Given the description of an element on the screen output the (x, y) to click on. 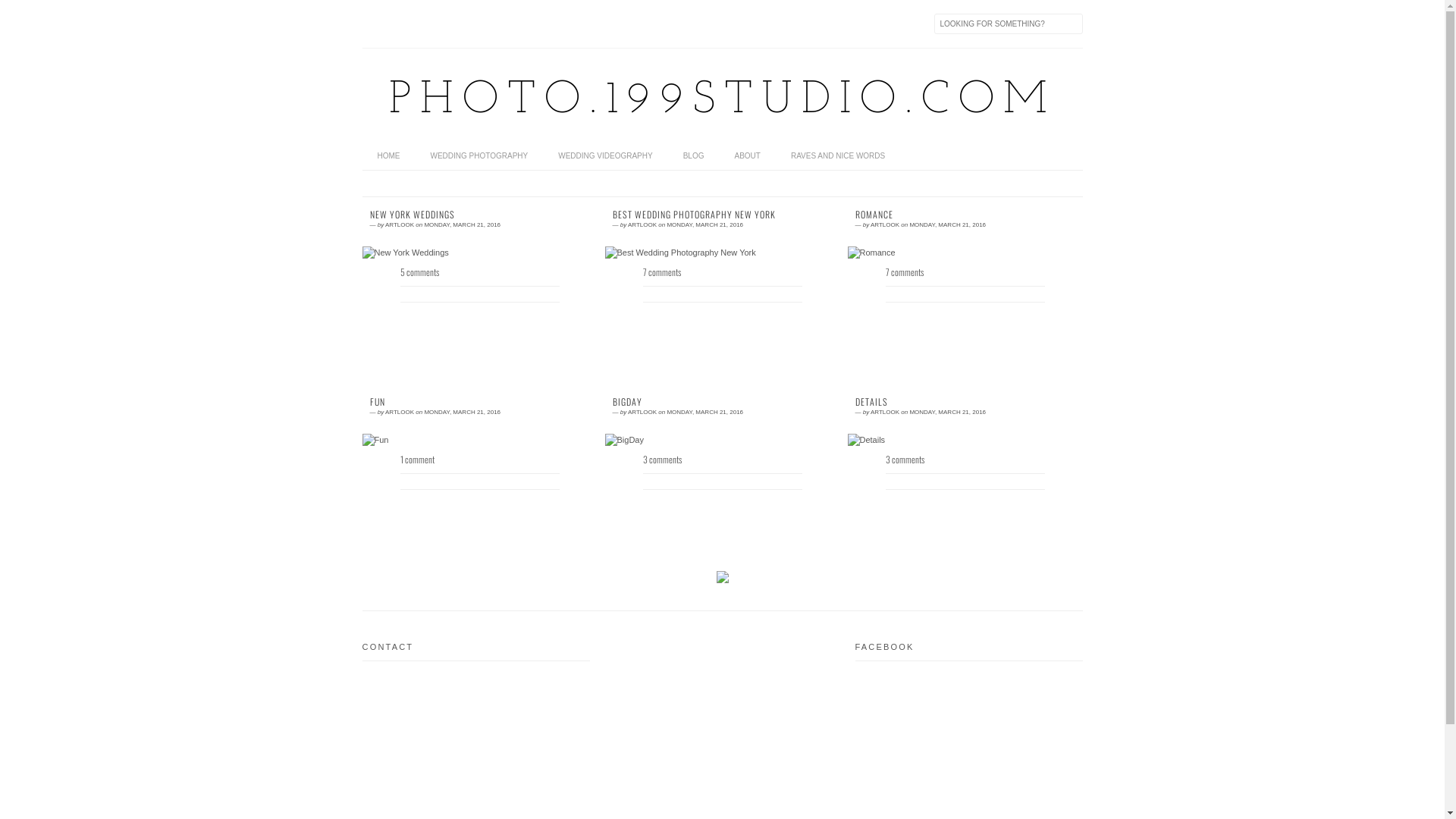
1 comment Element type: text (479, 503)
WEDDING VIDEOGRAPHY Element type: text (604, 155)
Skype Element type: text (565, 23)
5 comments Element type: text (479, 316)
WEDDING PHOTOGRAPHY Element type: text (479, 155)
NEW YORK WEDDINGS Element type: text (479, 214)
BIGDAY Element type: text (722, 401)
RAVES AND NICE WORDS Element type: text (837, 155)
Facebook Element type: text (406, 23)
GPlus Element type: text (470, 23)
ROMANCE Element type: text (965, 214)
Feed Element type: text (374, 23)
ABOUT Element type: text (746, 155)
BEST WEDDING PHOTOGRAPHY NEW YORK Element type: text (722, 214)
Youtube Element type: text (501, 23)
7 comments Element type: text (722, 316)
Instagram Element type: text (533, 23)
3 comments Element type: text (722, 503)
HOME Element type: text (388, 155)
DETAILS Element type: text (965, 401)
BLOG Element type: text (693, 155)
Twitter Element type: text (438, 23)
FUN Element type: text (479, 401)
7 comments Element type: text (964, 316)
3 comments Element type: text (964, 503)
